Given the description of an element on the screen output the (x, y) to click on. 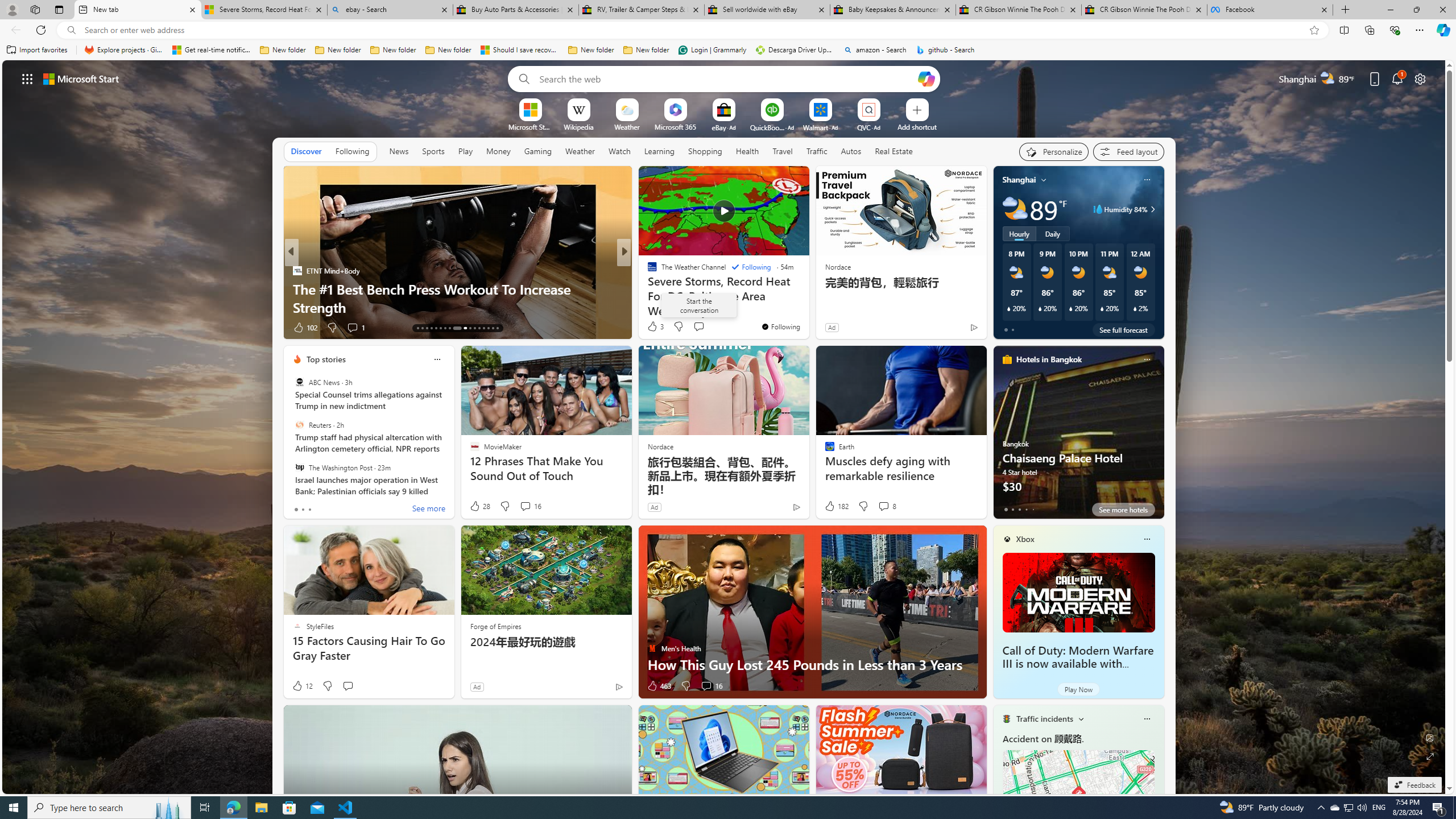
AutomationID: backgroundImagePicture (723, 426)
3 Like (655, 326)
Xbox (1025, 538)
Add a site (916, 126)
View comments 16 Comment (705, 685)
tab-2 (1019, 509)
